Given the description of an element on the screen output the (x, y) to click on. 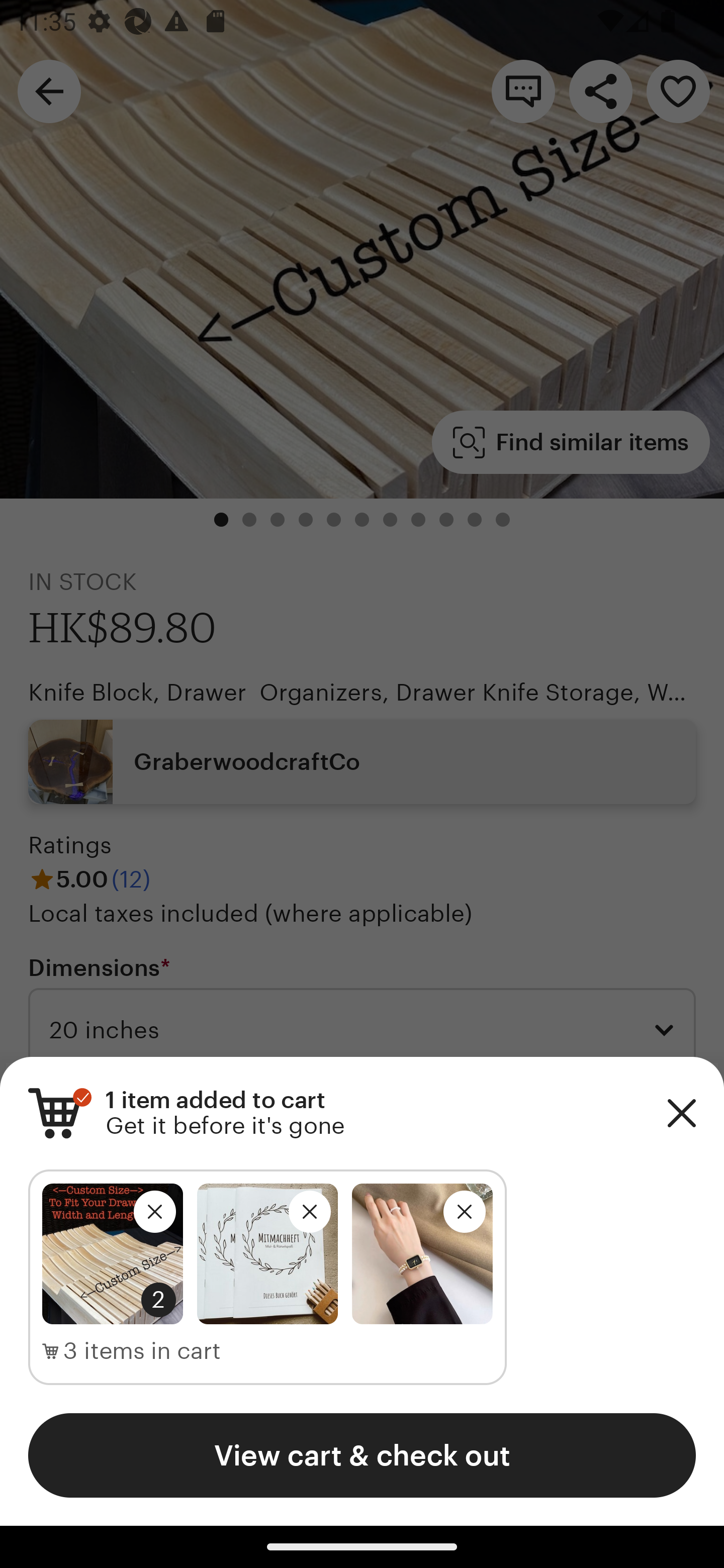
3 items in cart (131, 1351)
View cart & check out (361, 1454)
